Given the description of an element on the screen output the (x, y) to click on. 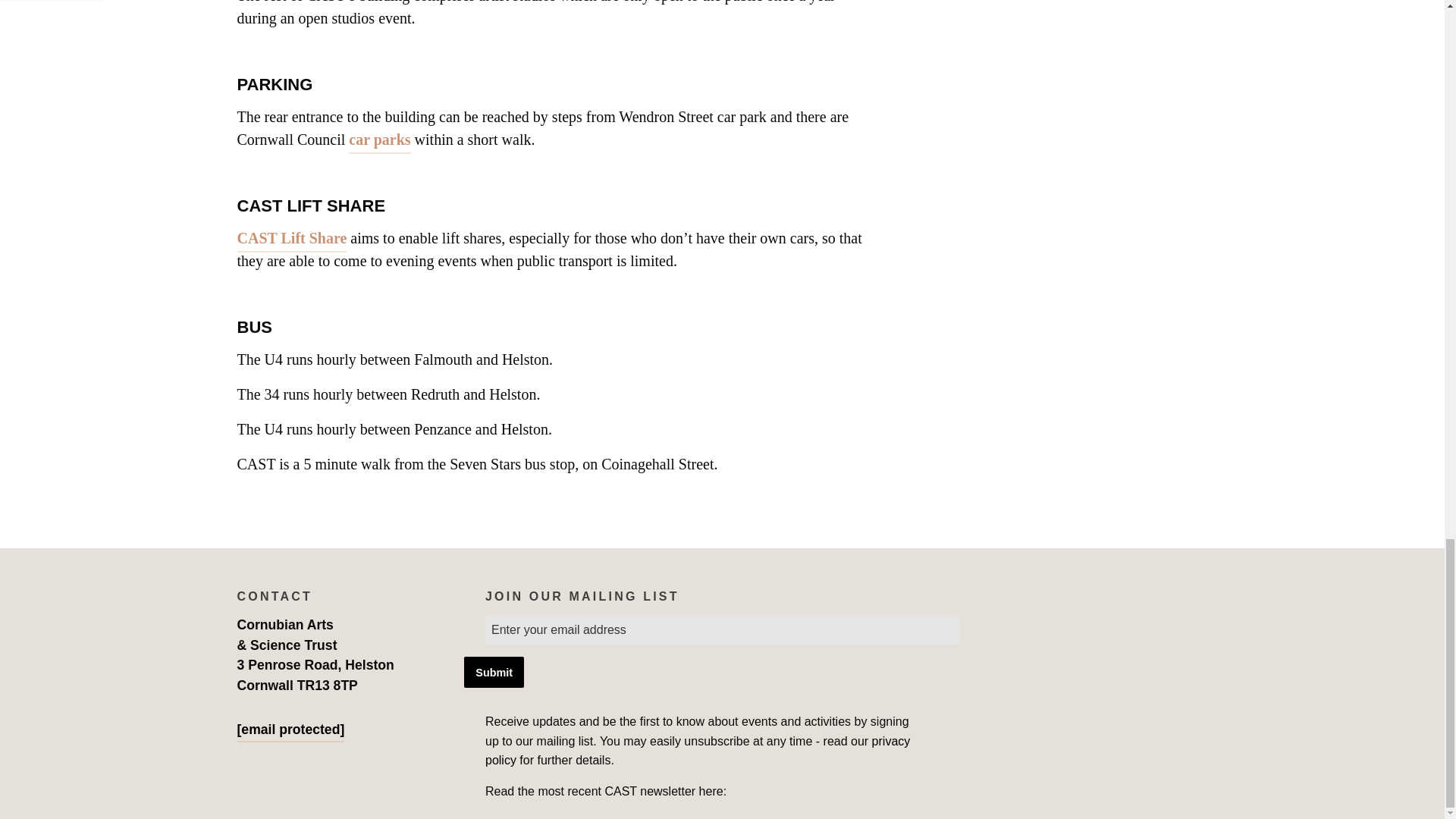
car parks (379, 138)
CAST Lift Share (290, 237)
Submit (494, 671)
privacy policy (697, 750)
